Given the description of an element on the screen output the (x, y) to click on. 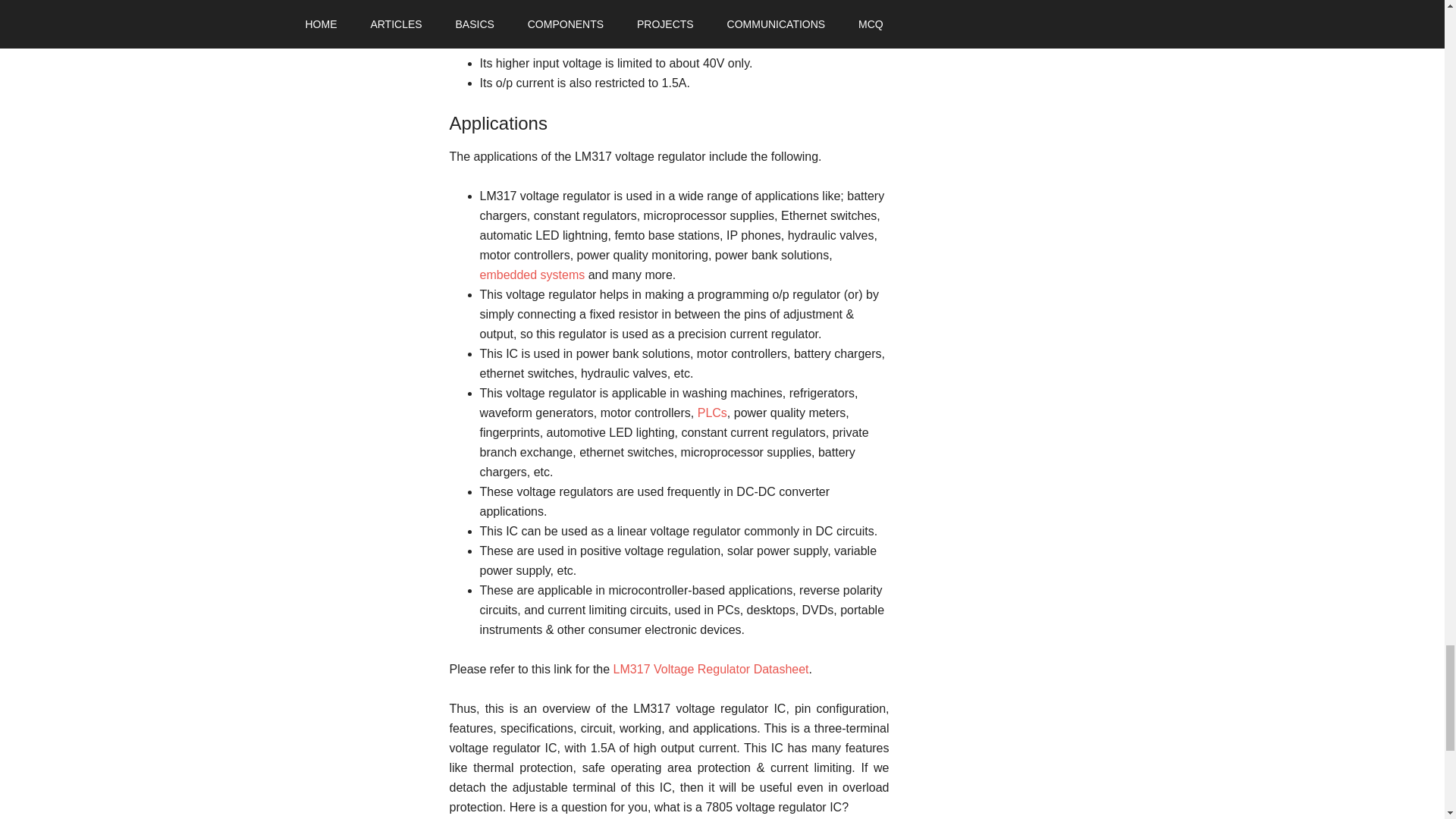
LM317 Voltage Regulator Datasheet (710, 668)
embedded systems (532, 274)
PLCs (711, 412)
